Given the description of an element on the screen output the (x, y) to click on. 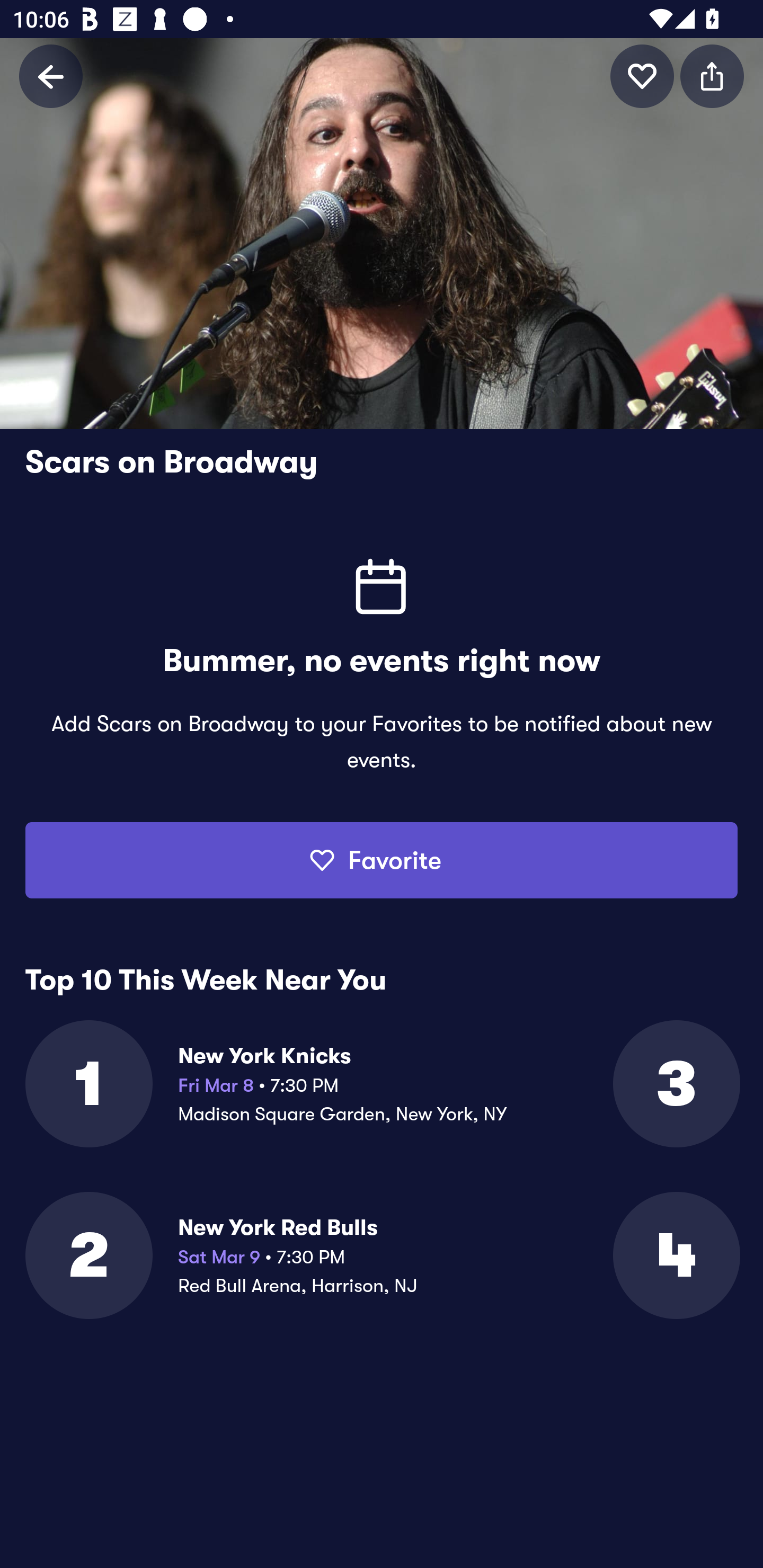
Back (50, 75)
icon button (641, 75)
icon button (711, 75)
Favorite (381, 859)
3 (675, 1083)
4 (675, 1254)
